Given the description of an element on the screen output the (x, y) to click on. 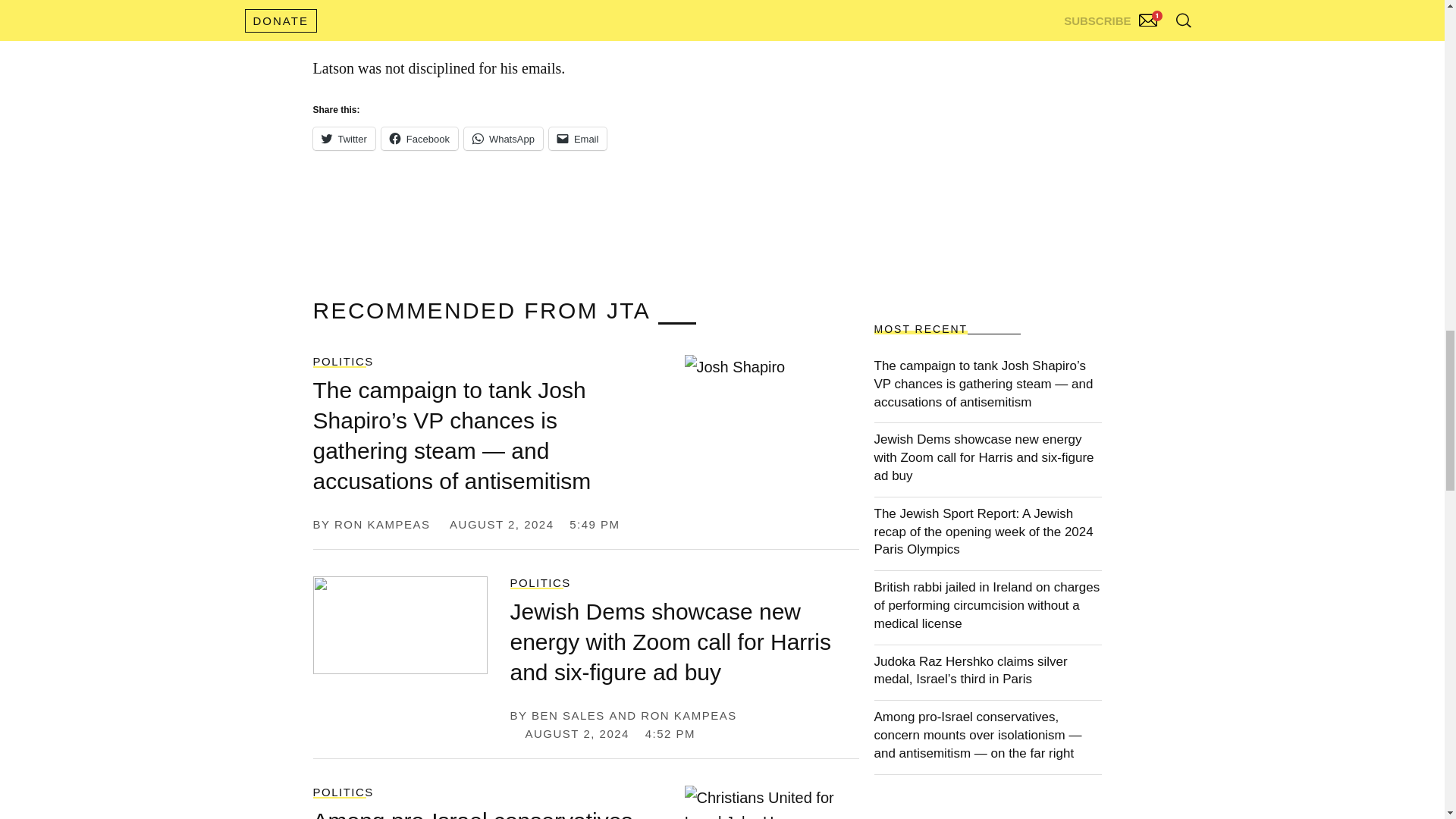
Click to share on Facebook (419, 138)
Click to email a link to a friend (577, 138)
Click to share on WhatsApp (503, 138)
Click to share on Twitter (343, 138)
